Given the description of an element on the screen output the (x, y) to click on. 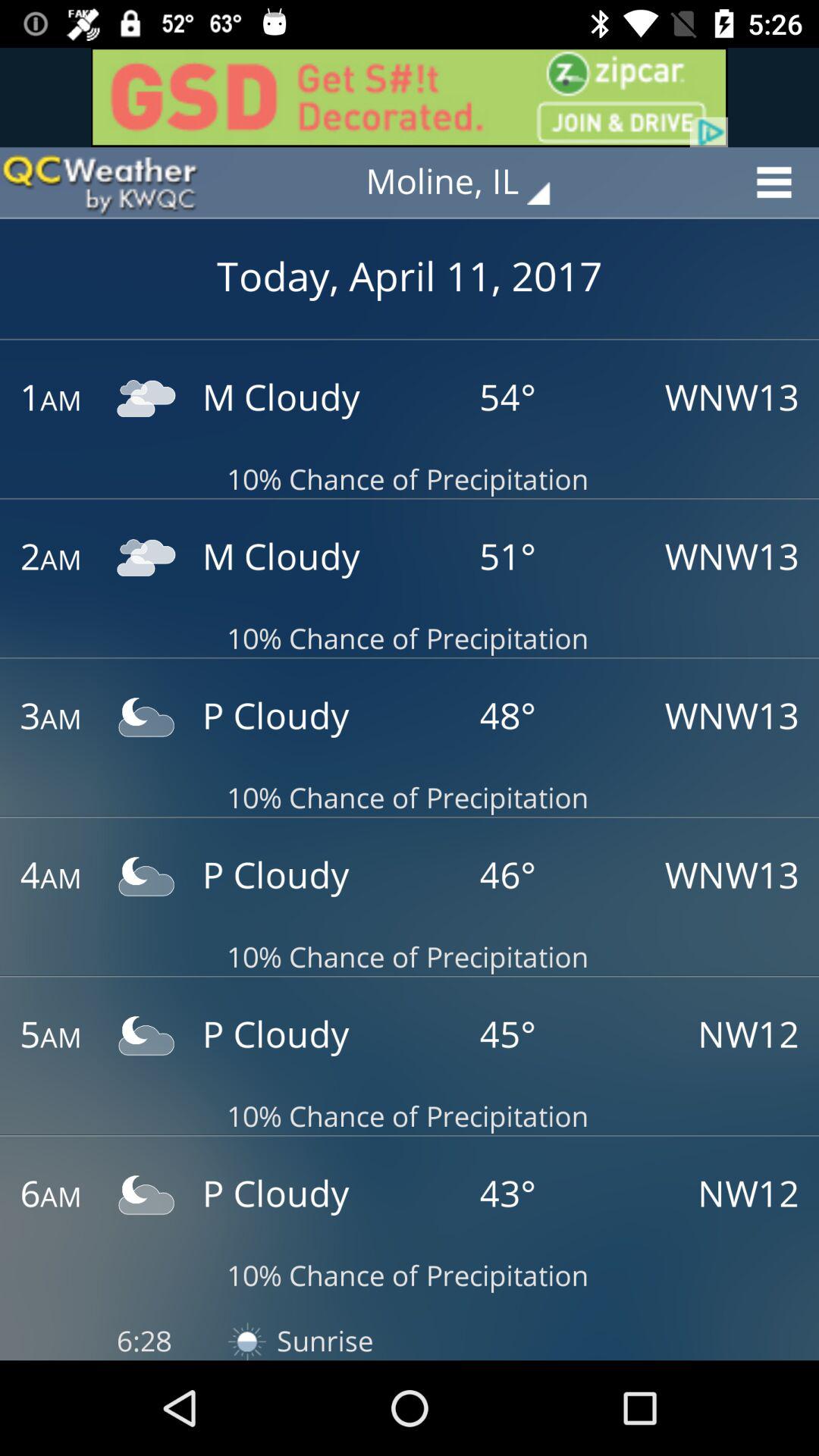
see advertisement (409, 97)
